Given the description of an element on the screen output the (x, y) to click on. 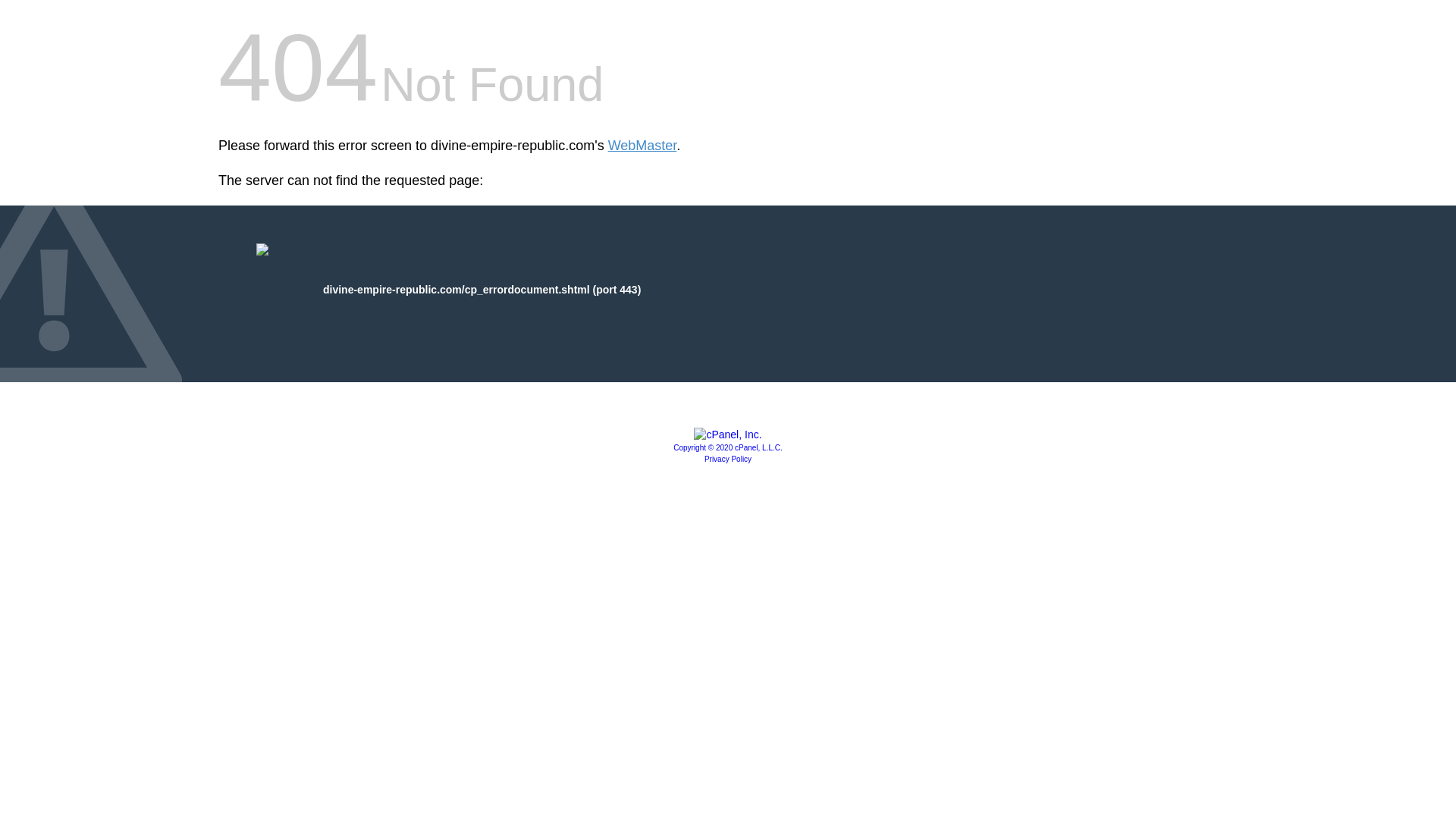
WebMaster (642, 145)
cPanel, Inc. (727, 434)
Privacy Policy (727, 459)
cPanel, Inc. (727, 447)
